Given the description of an element on the screen output the (x, y) to click on. 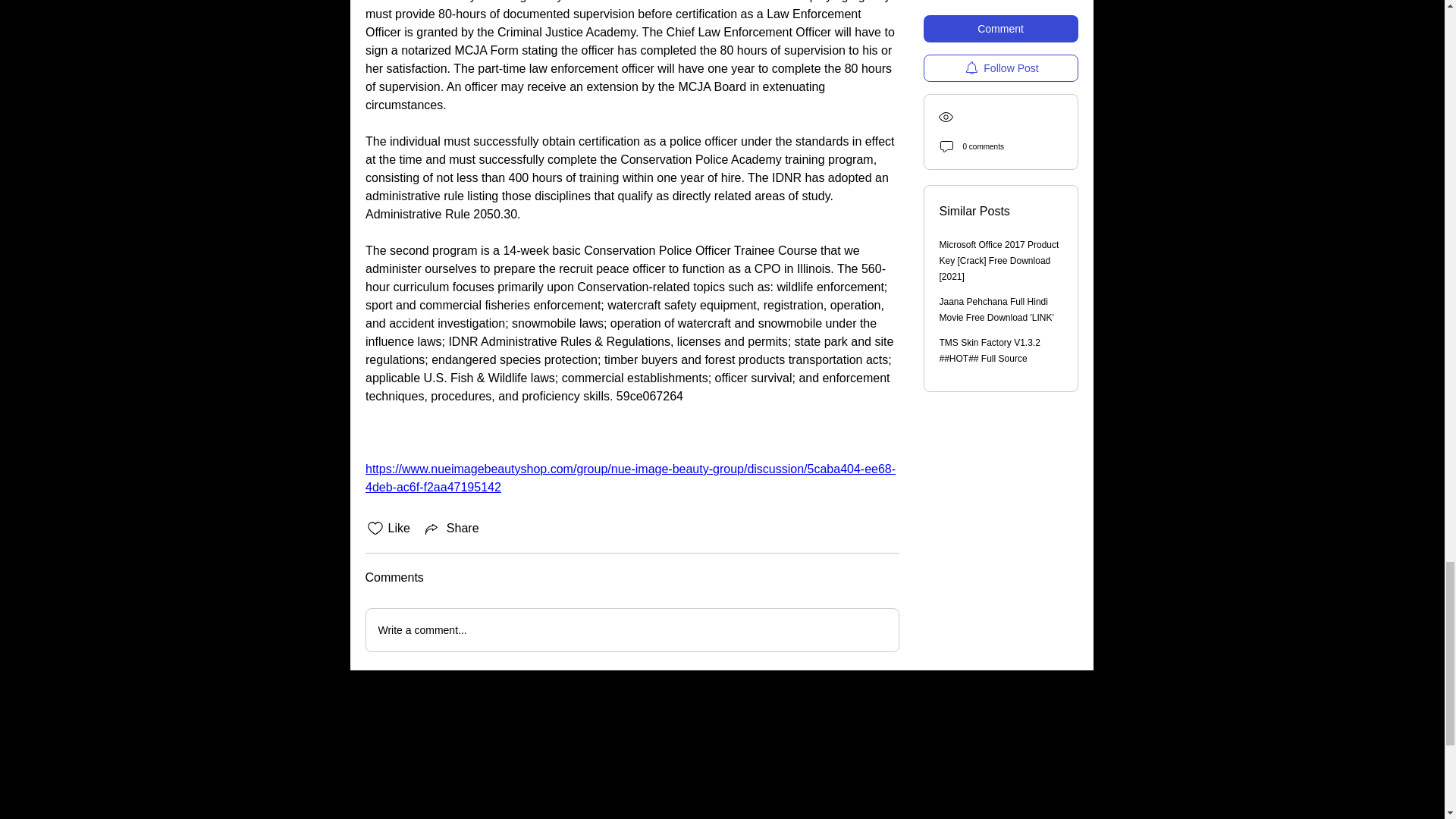
Share (450, 528)
Write a comment... (631, 630)
